Given the description of an element on the screen output the (x, y) to click on. 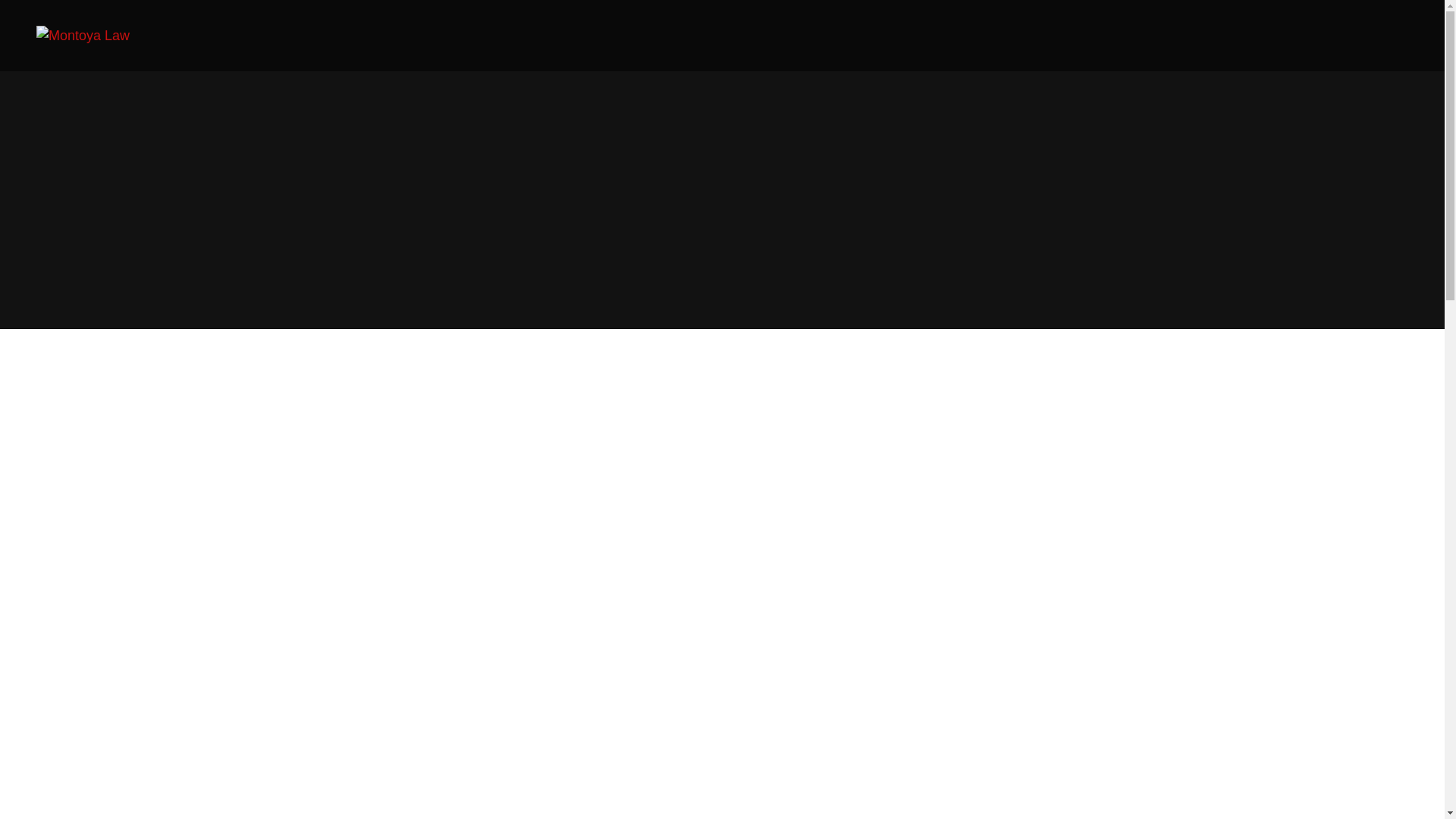
Montoya Law (90, 35)
